Given the description of an element on the screen output the (x, y) to click on. 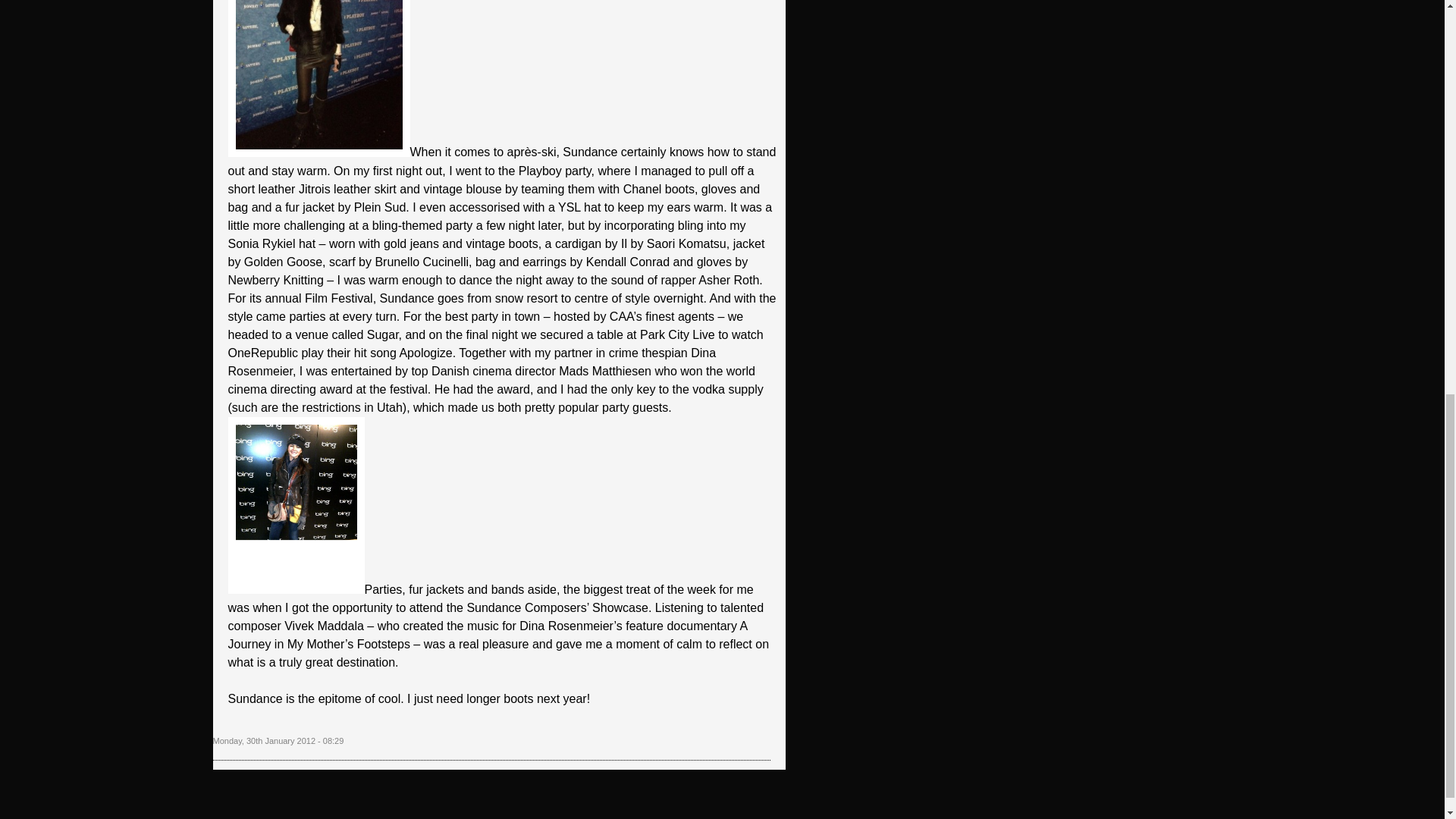
photo (318, 78)
